Given the description of an element on the screen output the (x, y) to click on. 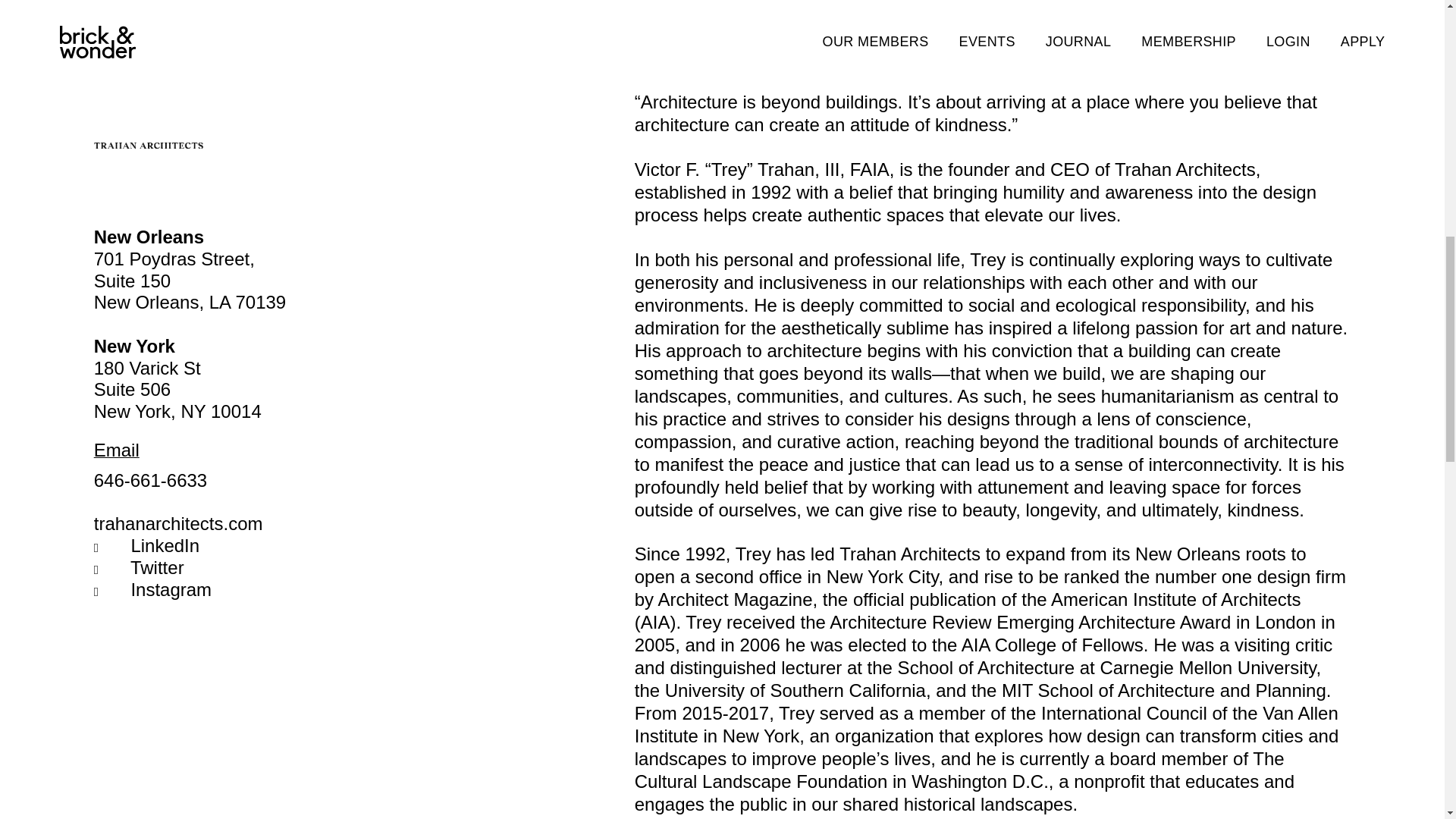
LinkedIn (165, 545)
Instagram (171, 589)
Twitter (157, 567)
Email (116, 449)
trahanarchitects.com (178, 523)
646-661-6633 (150, 480)
